Given the description of an element on the screen output the (x, y) to click on. 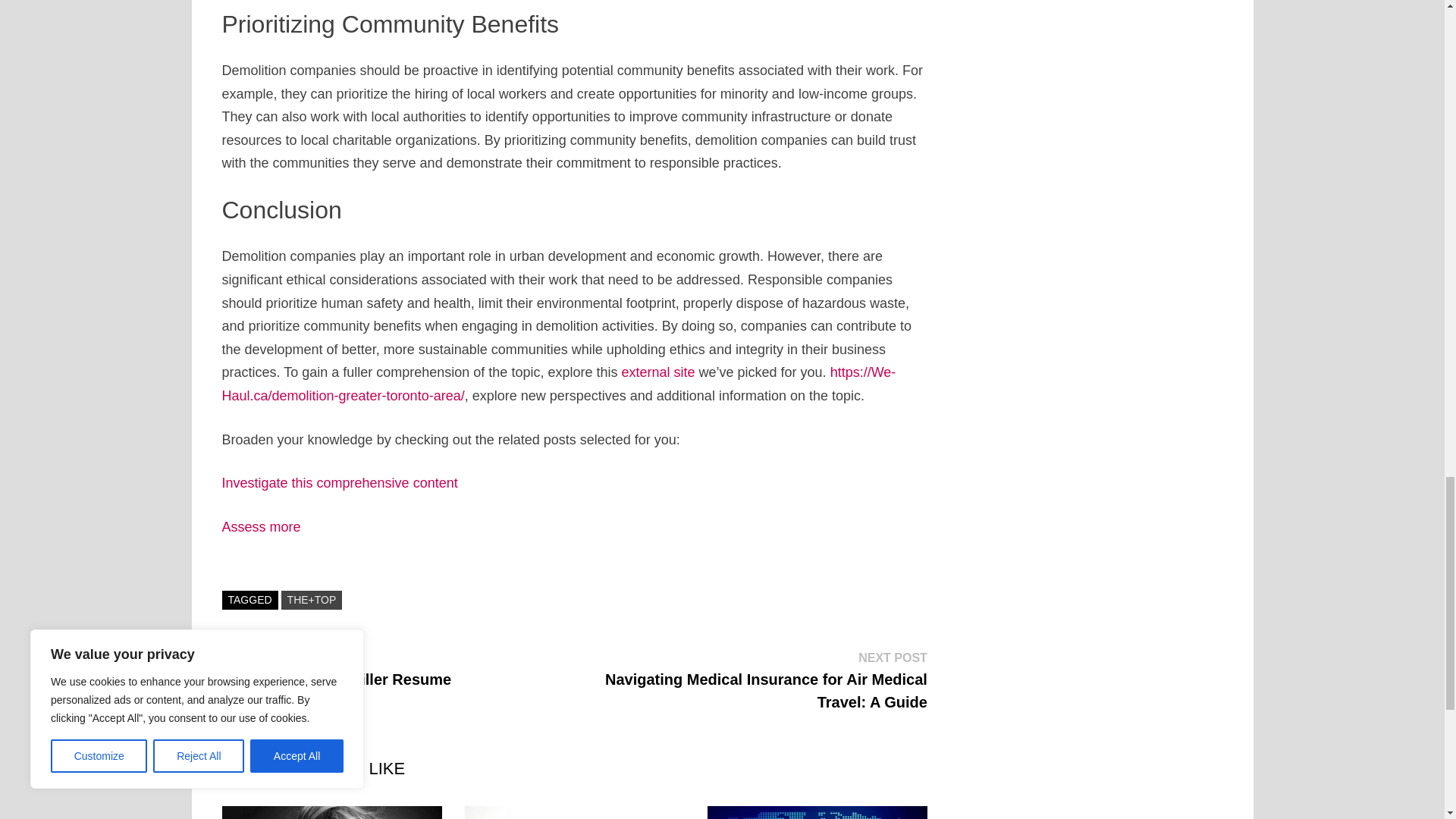
Assess more (260, 526)
external site (657, 372)
Investigate this comprehensive content (339, 482)
